Given the description of an element on the screen output the (x, y) to click on. 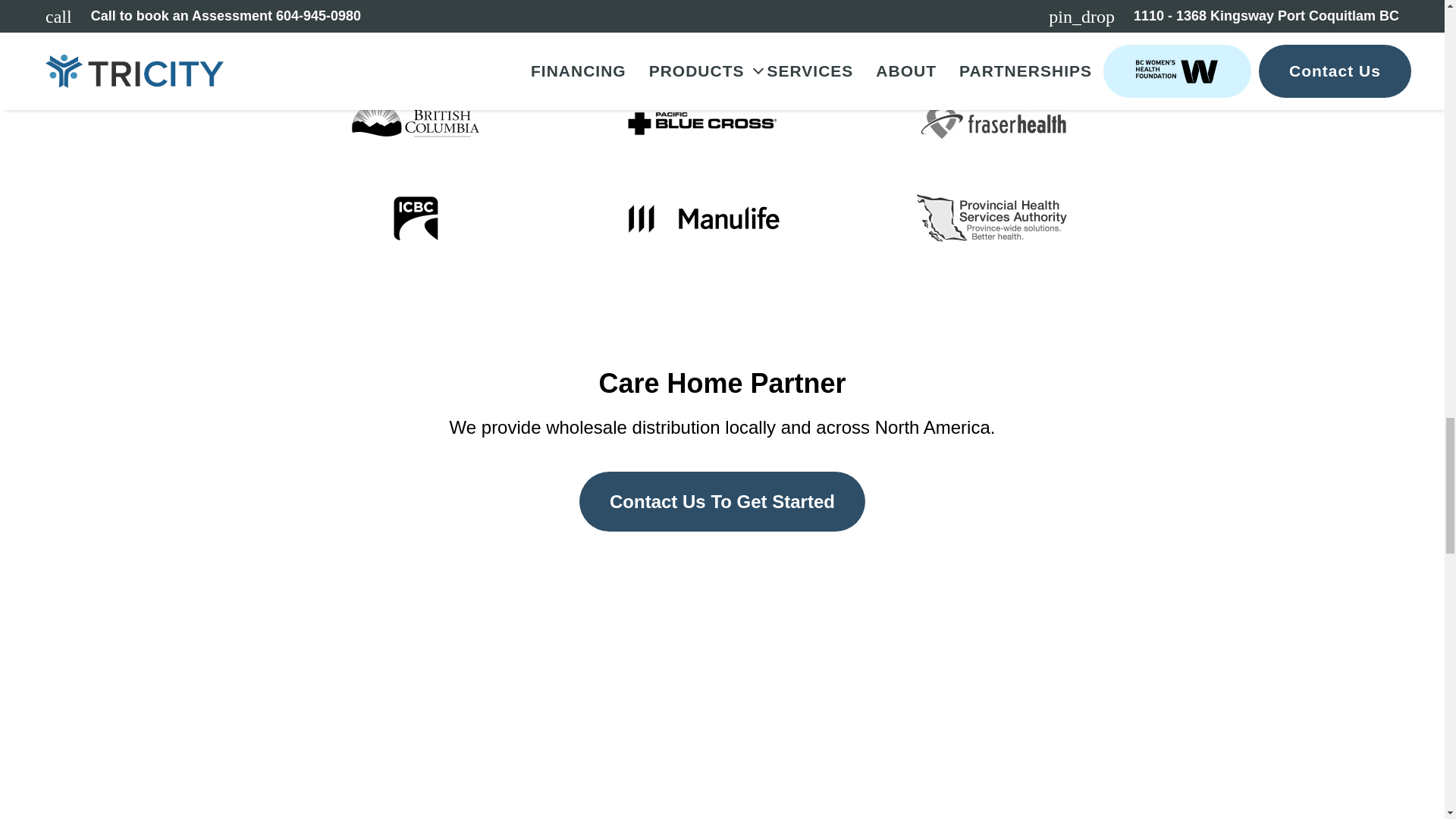
Contact Us To Get Started (721, 501)
